Given the description of an element on the screen output the (x, y) to click on. 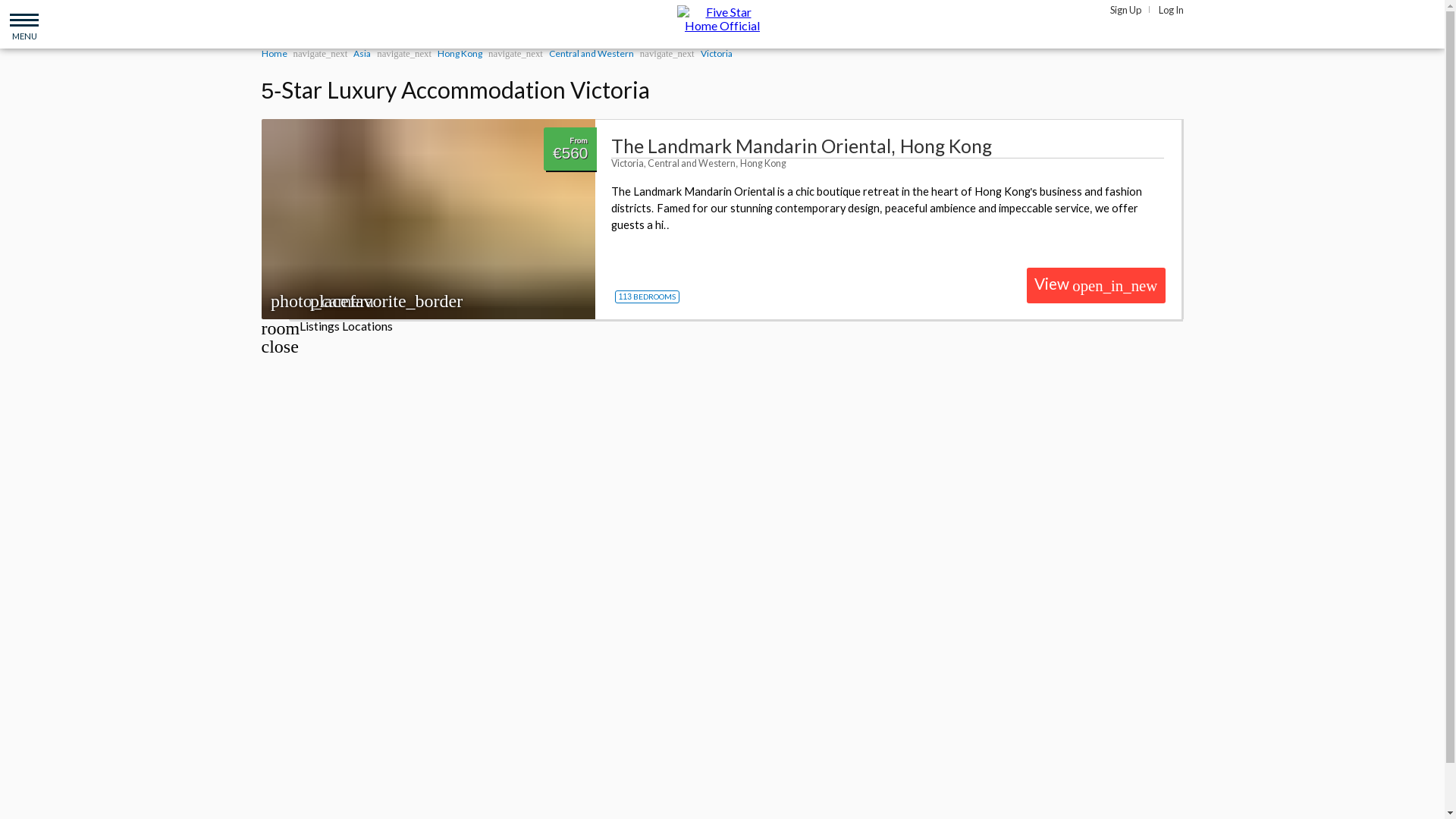
Victoria (716, 53)
MENU (24, 24)
Home (273, 53)
5-Star Luxury Accommodation Worldwide (722, 18)
Asia (362, 53)
Central and Western (590, 53)
Hong Kong (459, 53)
